Given the description of an element on the screen output the (x, y) to click on. 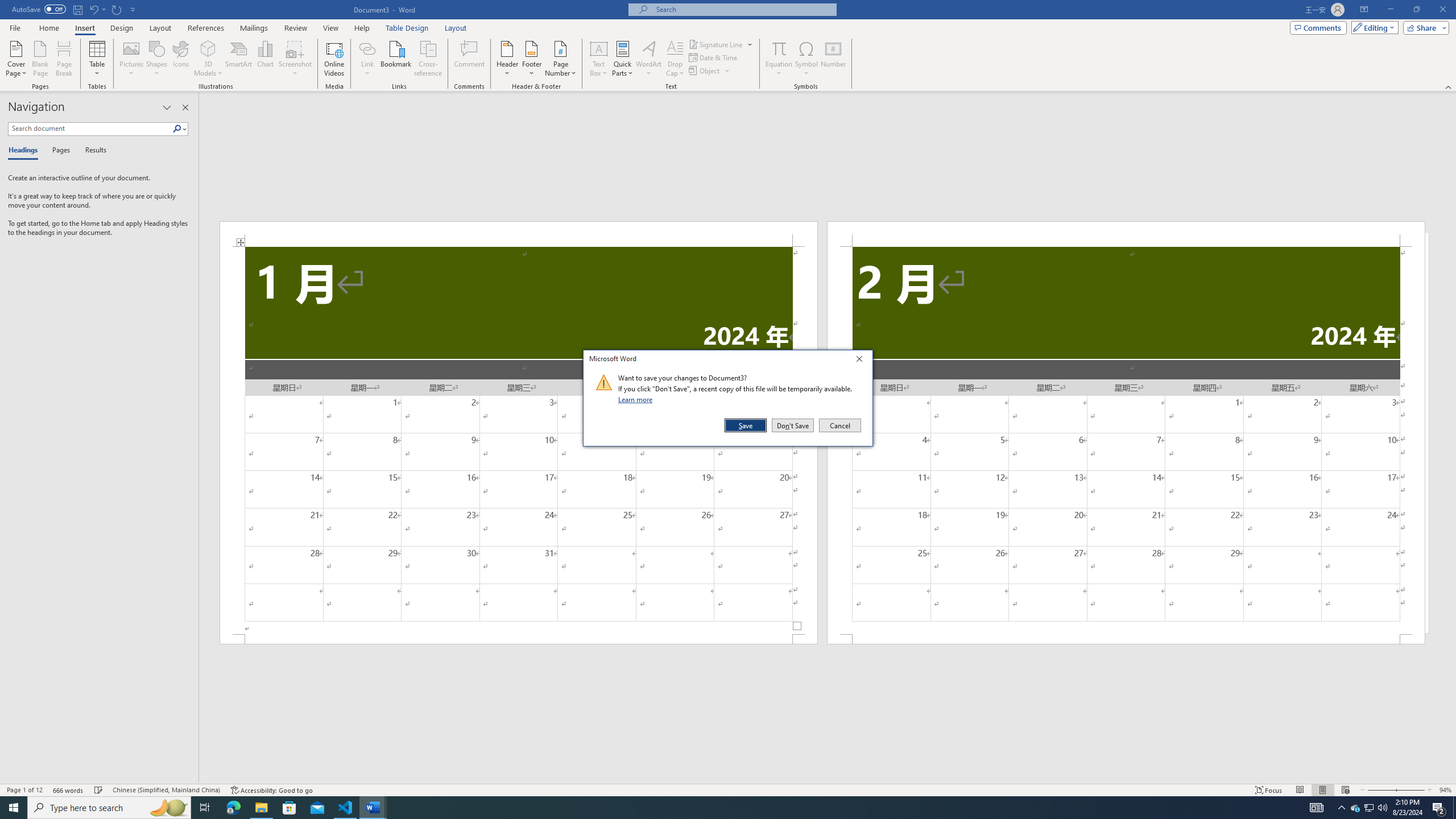
Date & Time... (714, 56)
Header -Section 2- (1126, 233)
Signature Line (716, 44)
Comment (469, 58)
Equation (778, 48)
Blank Page (40, 58)
SmartArt... (238, 58)
Symbol (806, 58)
Object... (709, 69)
